Given the description of an element on the screen output the (x, y) to click on. 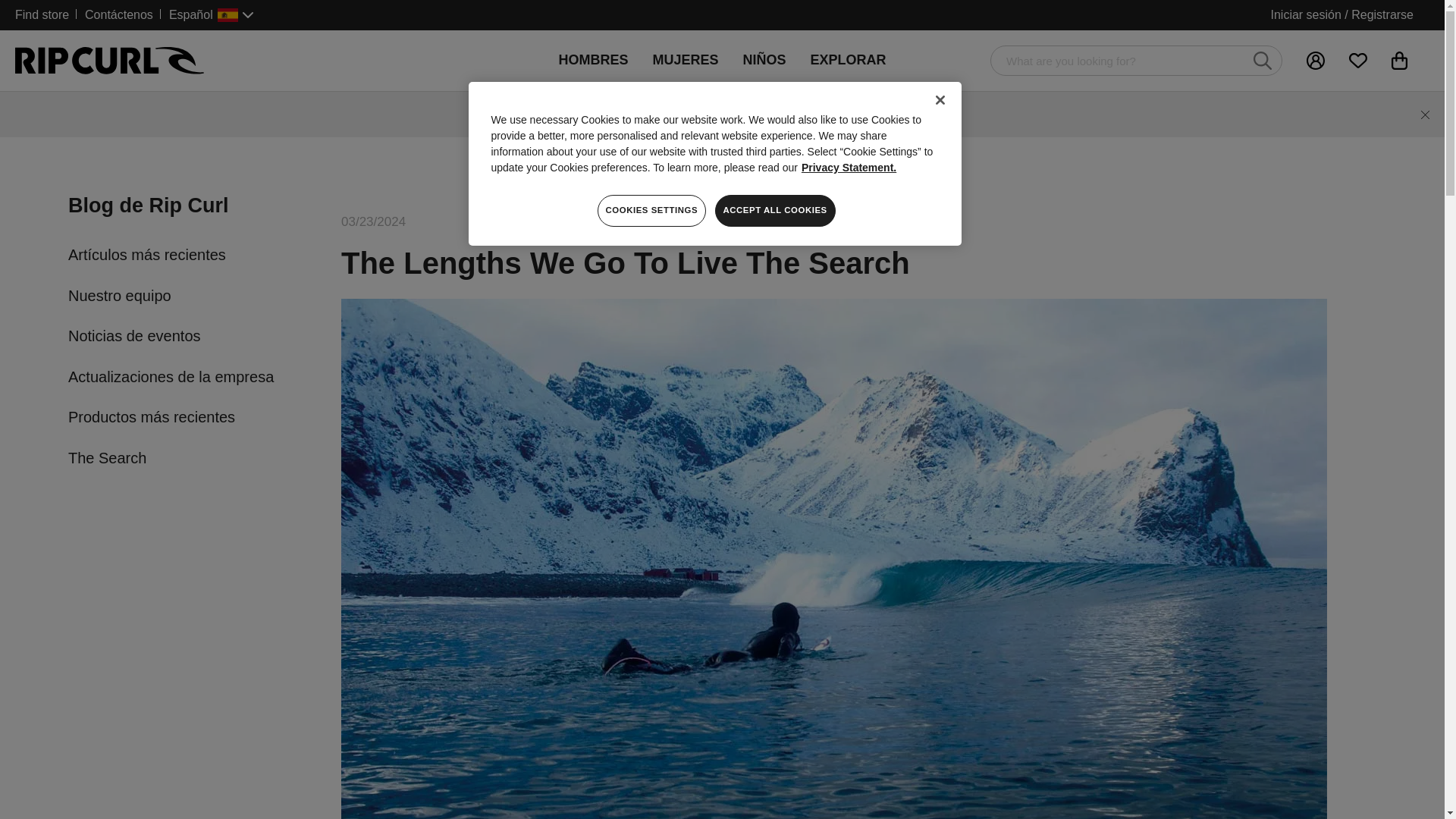
Hombres (593, 60)
HOMBRES (593, 60)
Find store (45, 14)
